Given the description of an element on the screen output the (x, y) to click on. 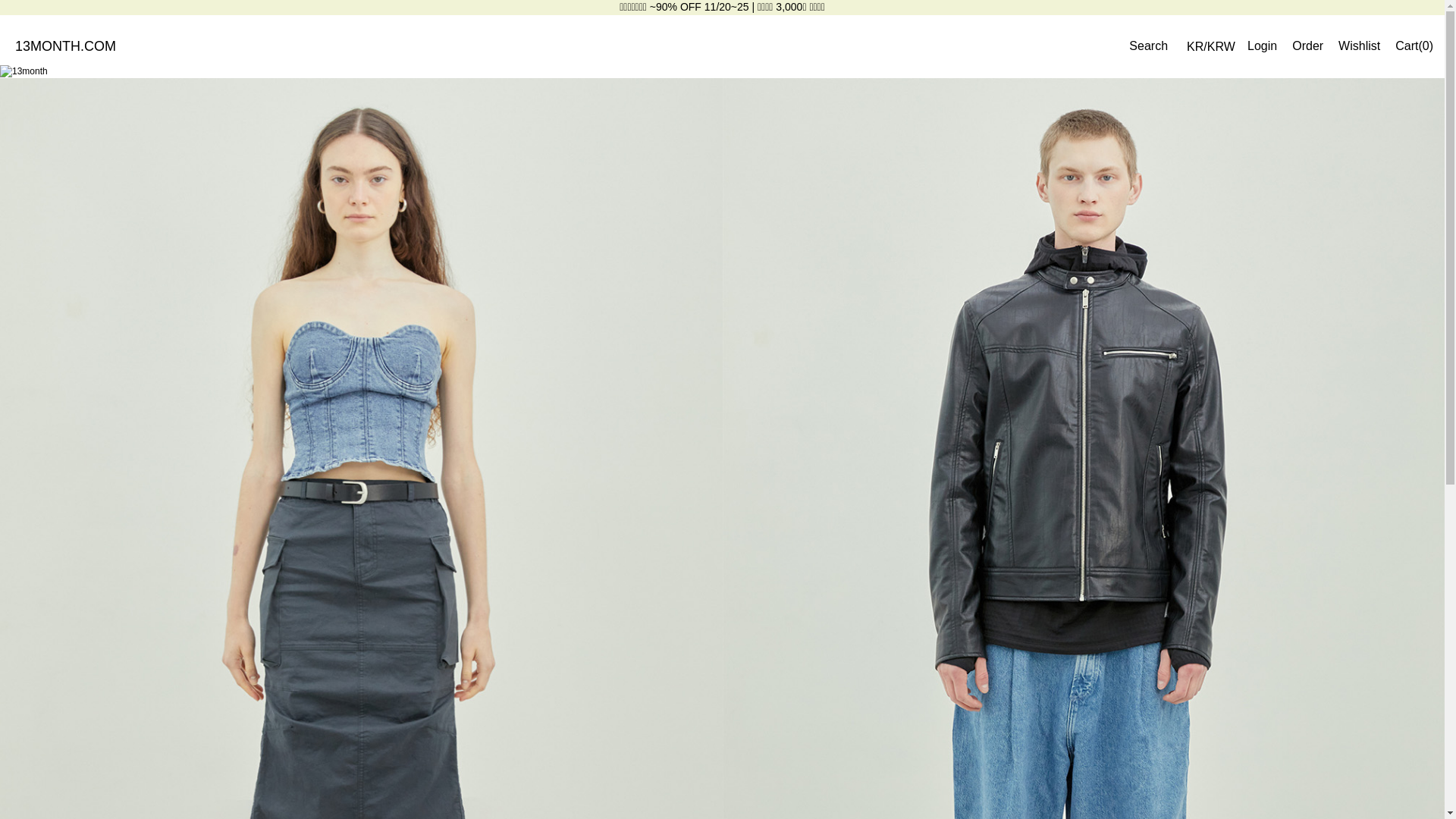
Search Element type: text (1148, 45)
Login Element type: text (1261, 45)
Order Element type: text (1307, 45)
KR/KRW Element type: text (1210, 46)
13MONTH.COM Element type: text (65, 45)
Wishlist Element type: text (1358, 45)
Cart(0) Element type: text (1413, 45)
